Given the description of an element on the screen output the (x, y) to click on. 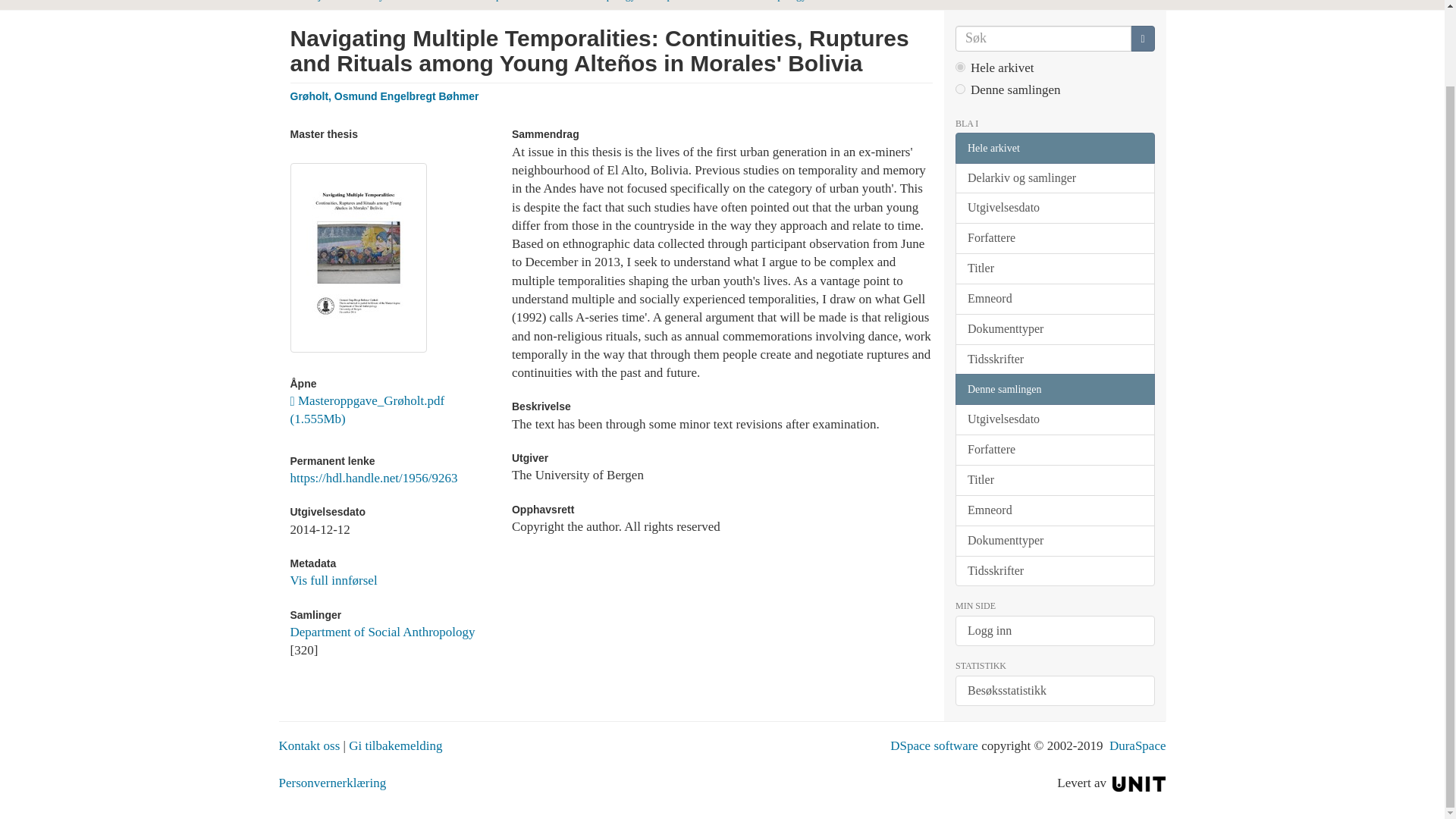
Hele arkivet (1054, 147)
Faculty of Social Sciences (408, 0)
Delarkiv og samlinger (1054, 178)
Hjem (322, 0)
Unit (1139, 782)
Titler (1054, 268)
Utgivelsesdato (1054, 207)
Forfattere (1054, 237)
Emneord (1054, 298)
Department of Social Anthropology (381, 631)
